Given the description of an element on the screen output the (x, y) to click on. 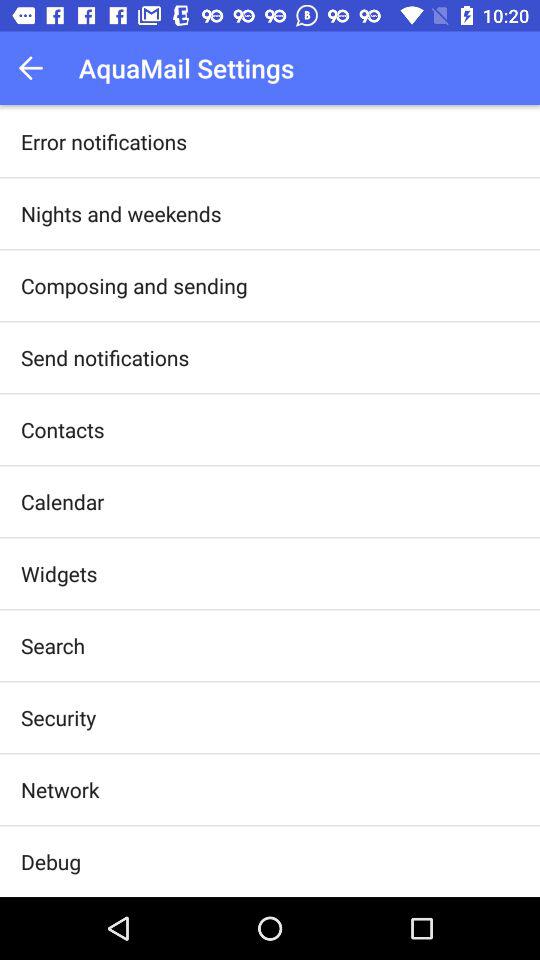
turn off icon below the contacts (62, 501)
